Given the description of an element on the screen output the (x, y) to click on. 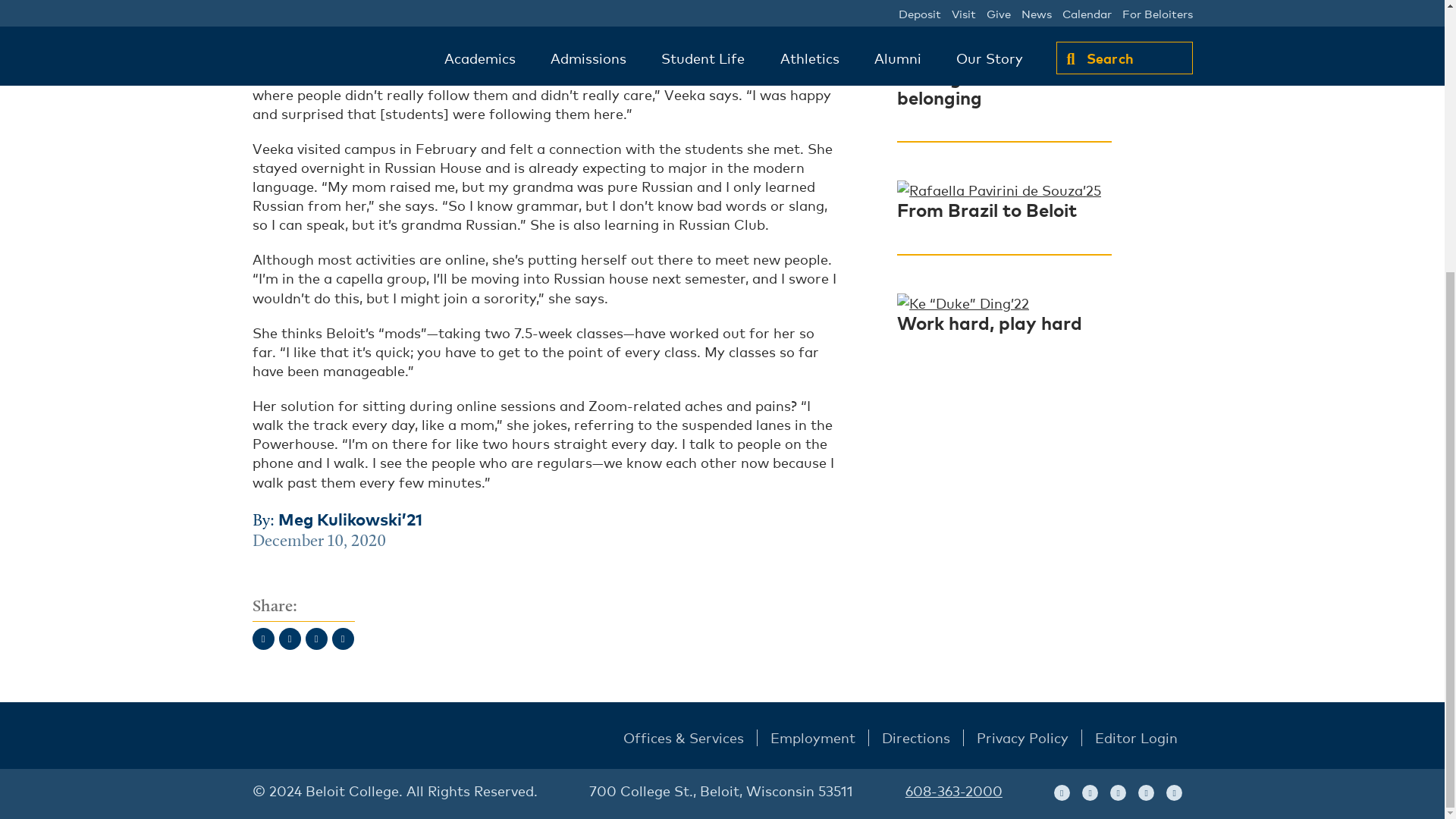
From Brazil to Beloit (986, 208)
Work hard, play hard (988, 321)
Beloit College (330, 738)
Finding a sense of belonging (974, 85)
